Given the description of an element on the screen output the (x, y) to click on. 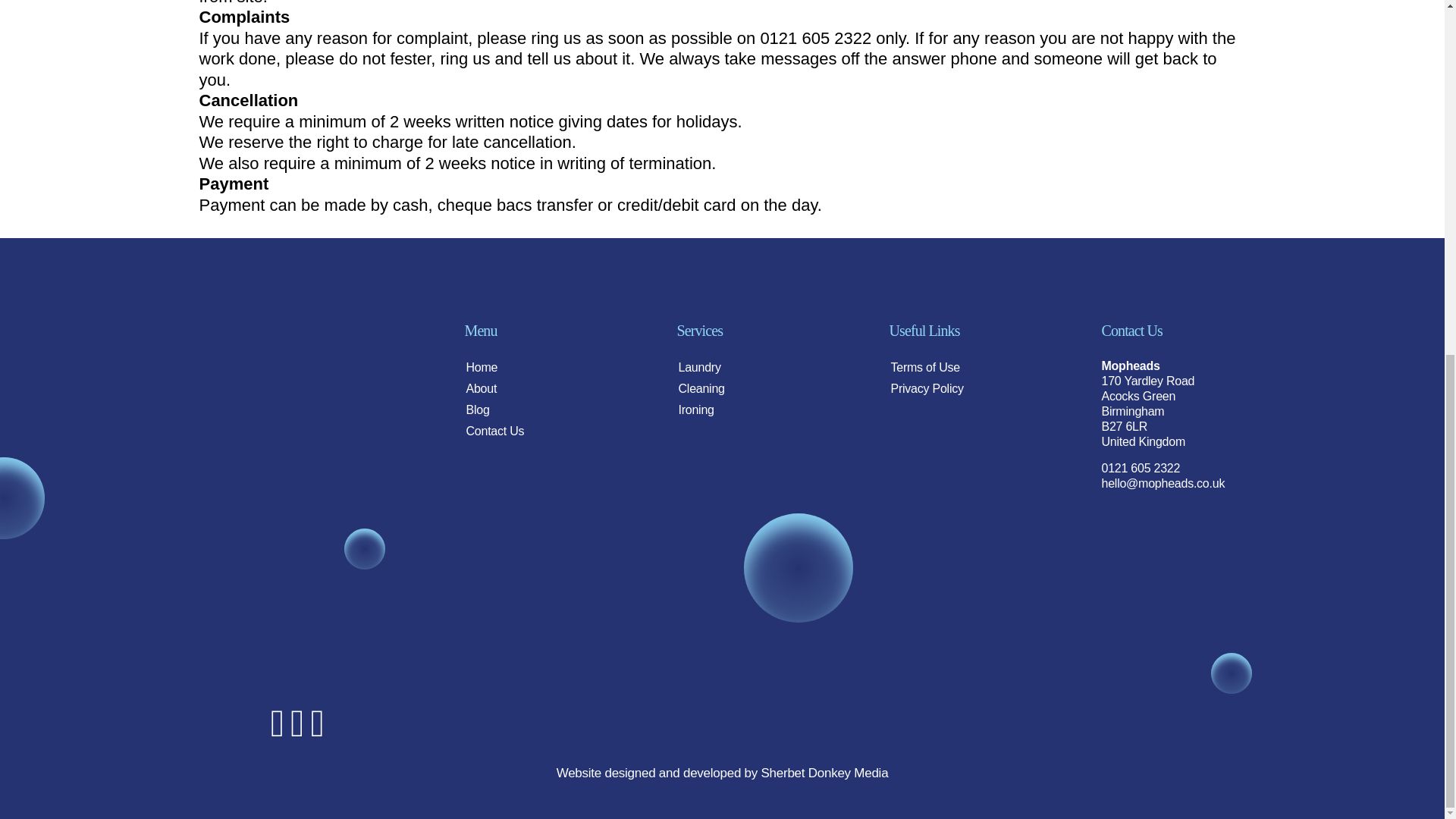
Home (536, 364)
About (536, 385)
logo centered NEW (297, 395)
